Given the description of an element on the screen output the (x, y) to click on. 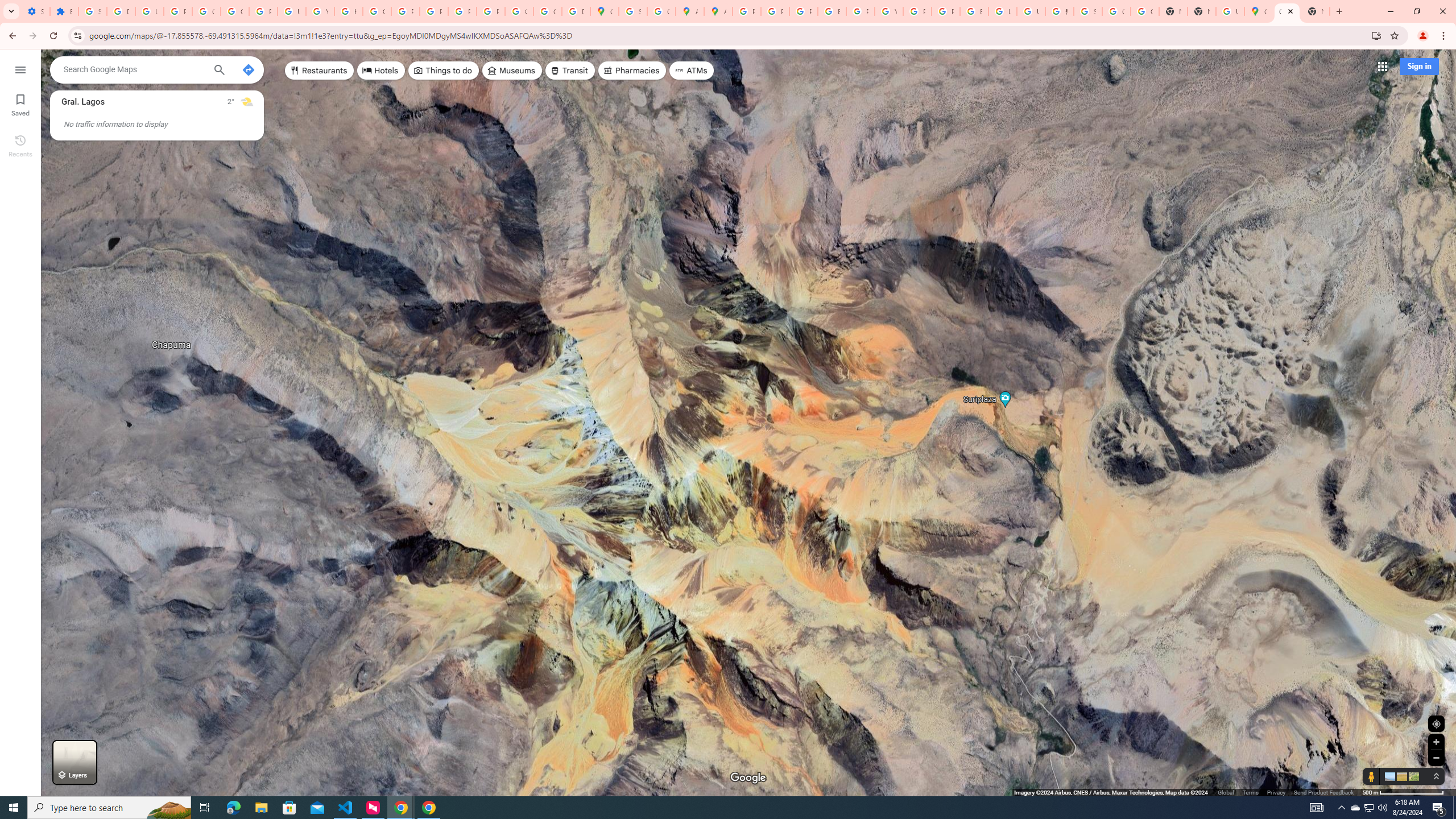
New Tab (1315, 11)
Google Maps (1287, 11)
Google Maps (604, 11)
Restaurants (319, 70)
Directions (247, 69)
Use Google Maps in Space - Google Maps Help (1230, 11)
Sign in - Google Accounts (92, 11)
